Given the description of an element on the screen output the (x, y) to click on. 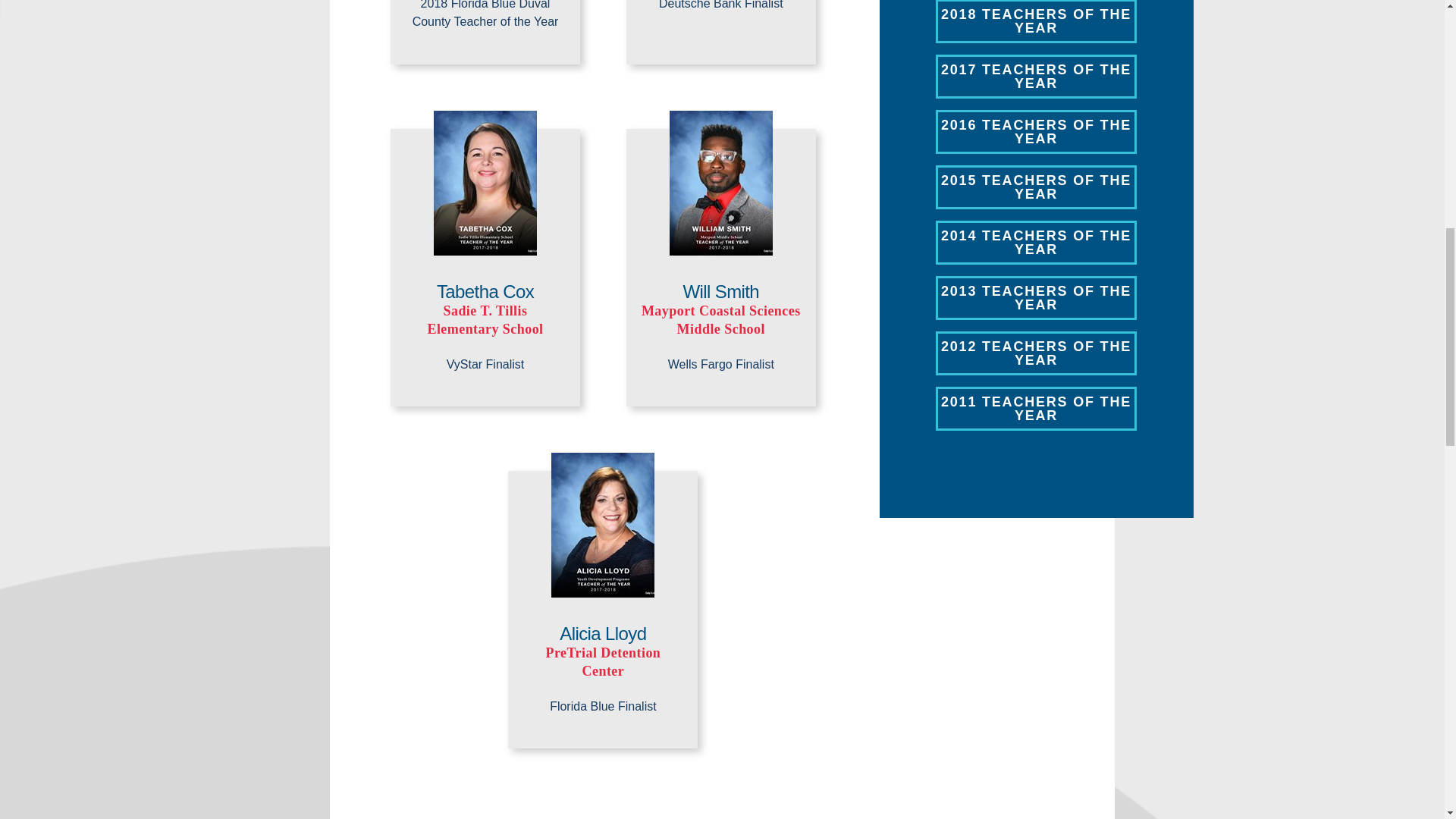
EDDYs 2016 (1036, 131)
EDDYs 2011 (1036, 408)
EDDYs 2018 (1036, 21)
EDDYs 2014 (1036, 242)
EDDYs 2012 (1036, 353)
EDDYs 2017 (1036, 76)
EDDYs 2013 (1036, 298)
EDDYs 2015 (1036, 187)
